Given the description of an element on the screen output the (x, y) to click on. 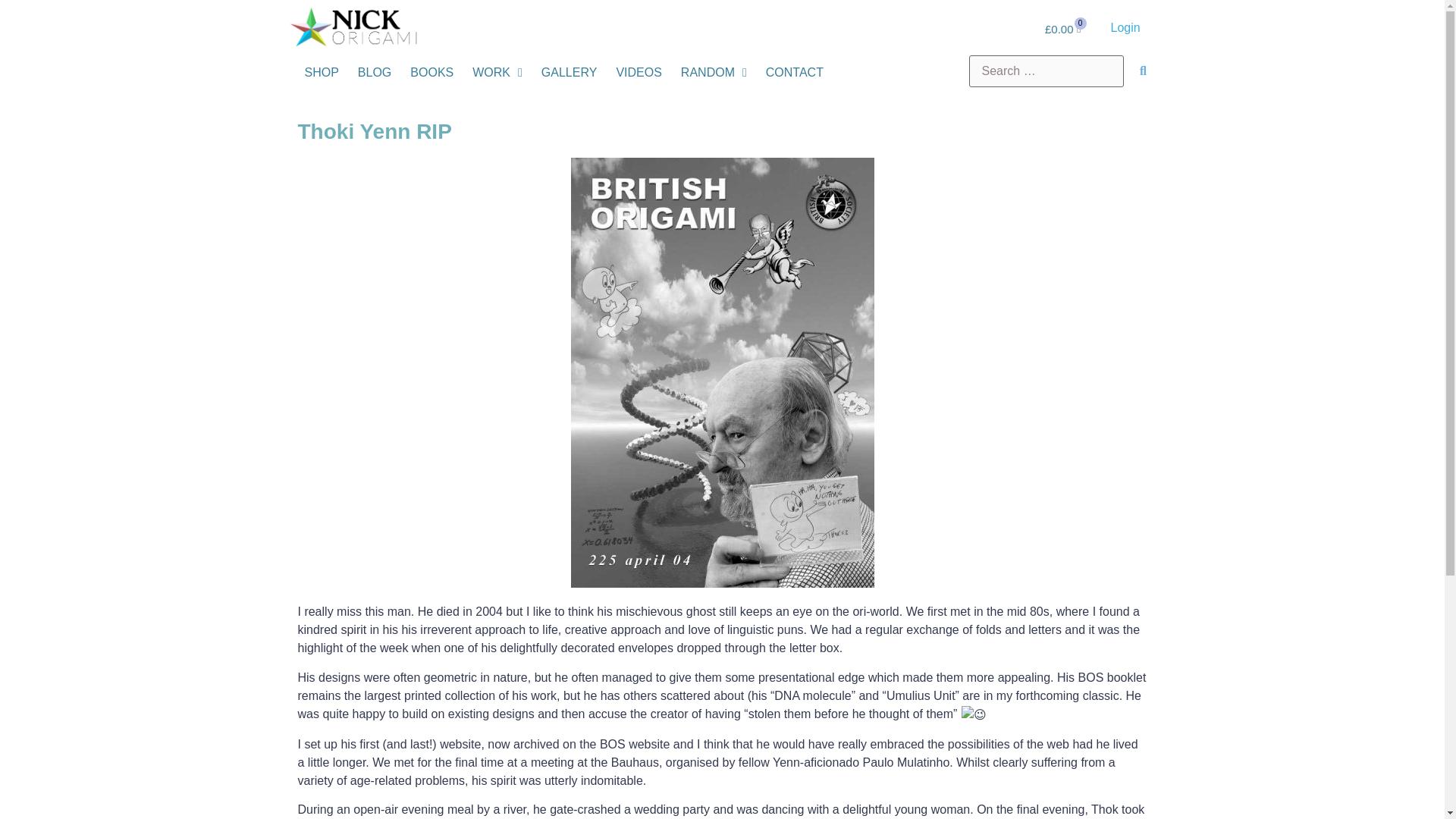
RANDOM (714, 72)
SHOP (321, 72)
WORK (497, 72)
VIDEOS (638, 72)
Login (1124, 27)
BOOKS (431, 72)
GALLERY (569, 72)
BLOG (373, 72)
CONTACT (793, 72)
